Given the description of an element on the screen output the (x, y) to click on. 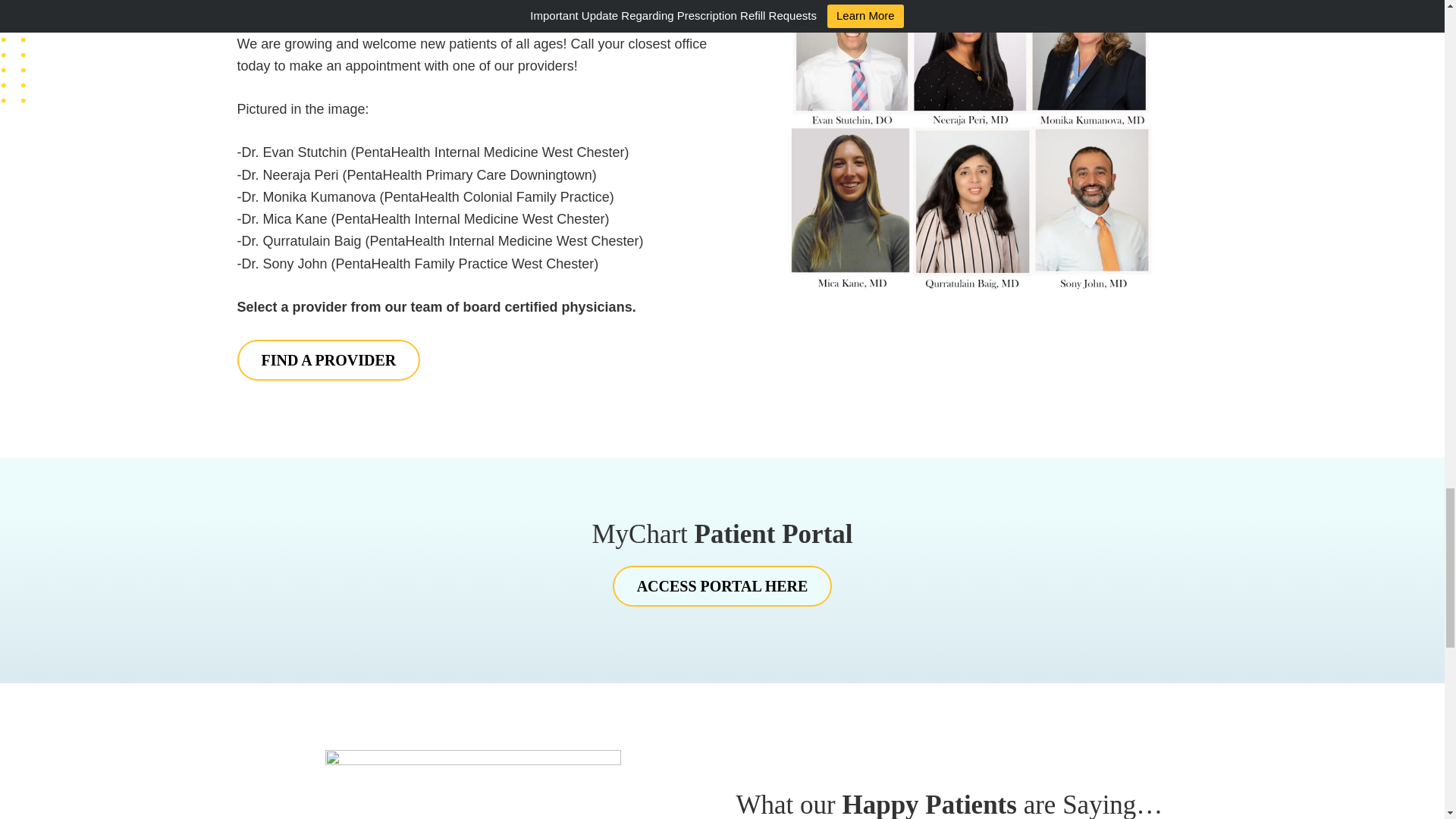
ACCESS PORTAL HERE (722, 585)
FIND A PROVIDER (327, 359)
